Given the description of an element on the screen output the (x, y) to click on. 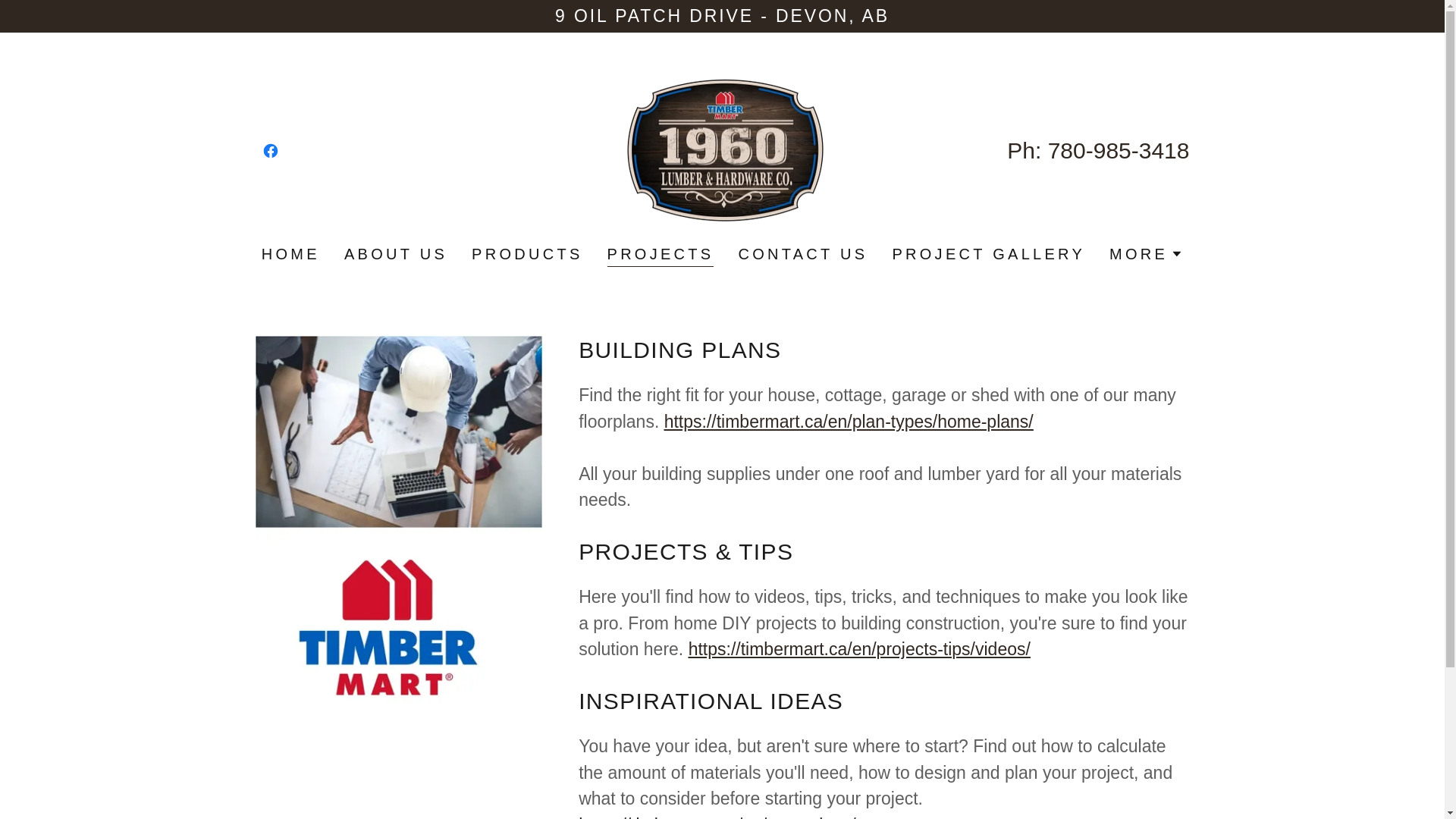
CONTACT US Element type: text (802, 252)
PROJECT GALLERY Element type: text (988, 252)
ABOUT US Element type: text (395, 252)
PROJECTS Element type: text (660, 255)
  Website Under Construction Element type: hover (722, 149)
https://timbermart.ca/en/projects-tips/videos/ Element type: text (859, 648)
https://timbermart.ca/en/plan-types/home-plans/ Element type: text (848, 420)
PRODUCTS Element type: text (526, 252)
780-985-3418 Element type: text (1118, 150)
MORE Element type: text (1146, 253)
HOME Element type: text (290, 252)
